Given the description of an element on the screen output the (x, y) to click on. 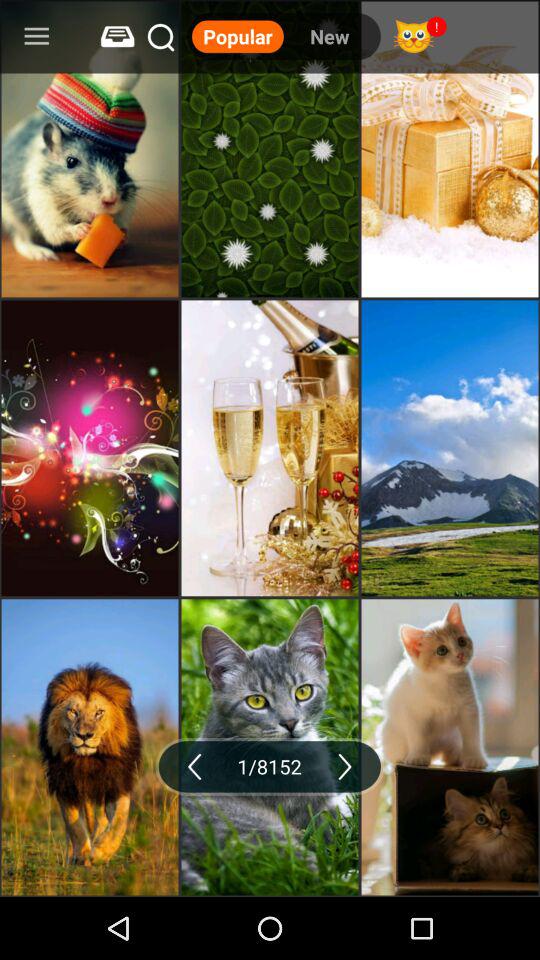
choose icon next to the popular icon (329, 36)
